Given the description of an element on the screen output the (x, y) to click on. 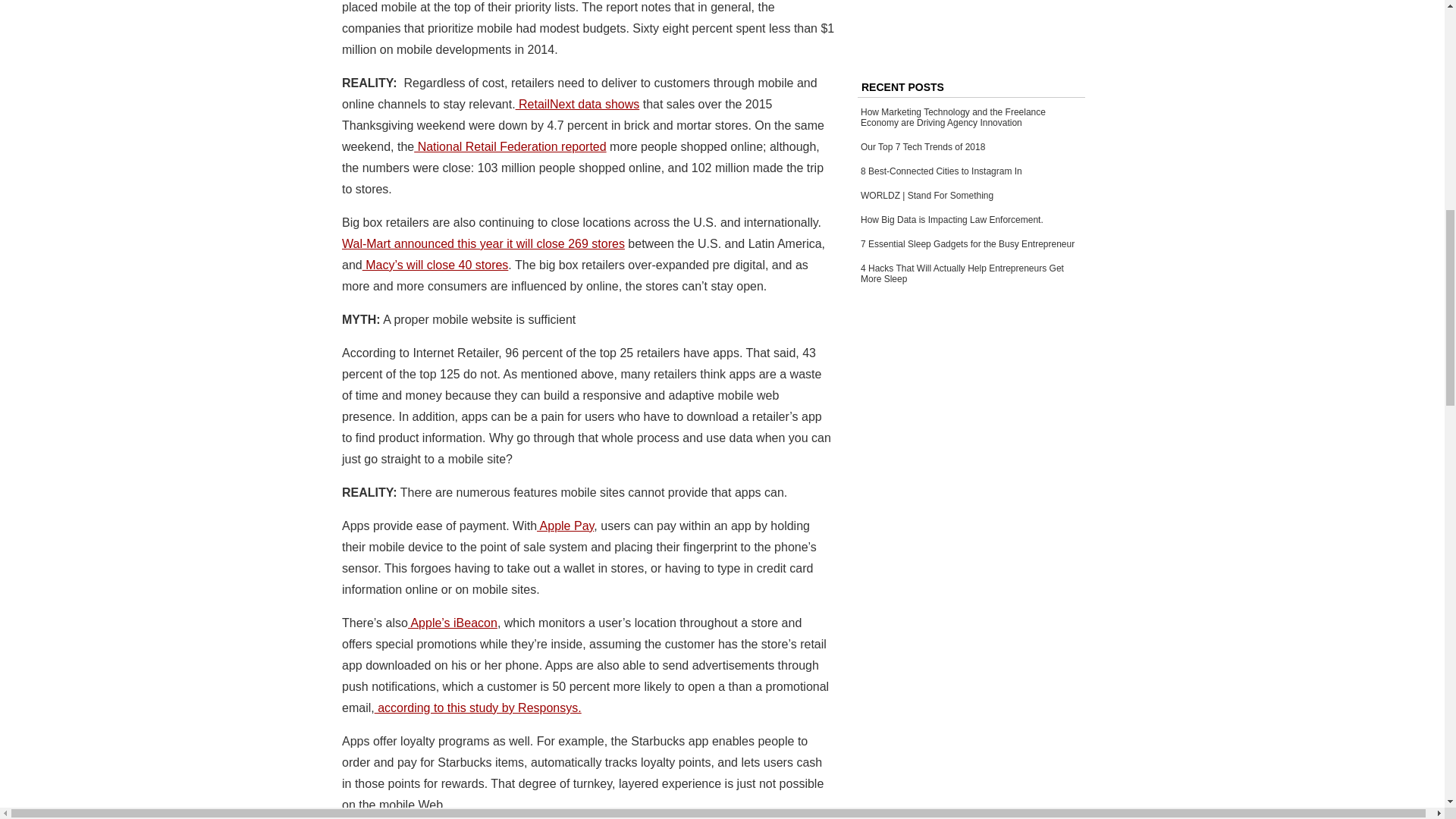
Advertisement (972, 31)
National Retail Federation reported (509, 146)
RetailNext data shows (577, 103)
Apple Pay (565, 525)
Wal-Mart announced this year it will close 269 stores (483, 243)
according to this study by Responsys. (477, 707)
